Given the description of an element on the screen output the (x, y) to click on. 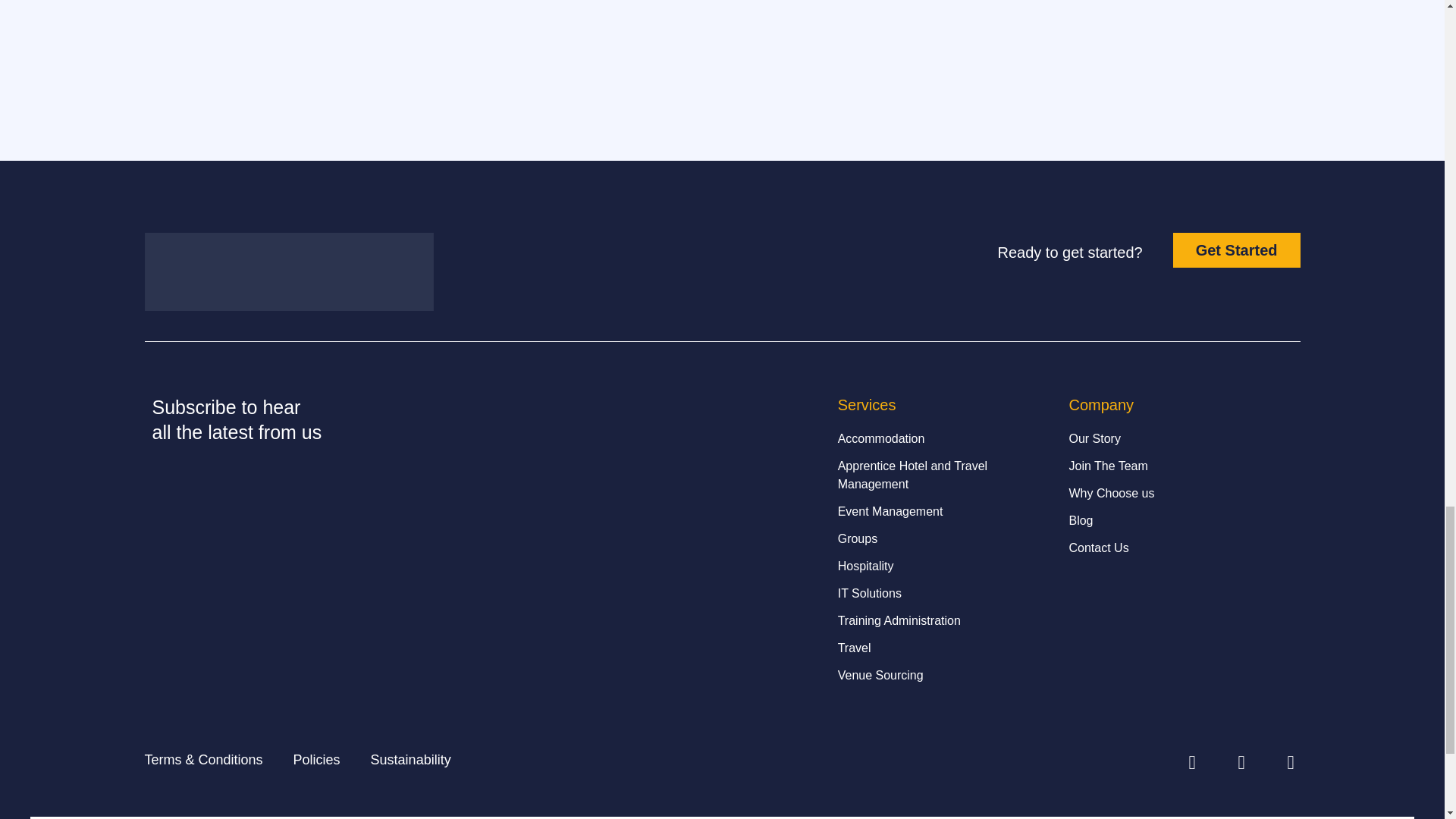
Contact Us (1176, 547)
Hospitality (946, 566)
Apprentice Hotel and Travel Management (946, 475)
Sustainability (411, 759)
Training Administration (946, 620)
IT Solutions (946, 593)
Join The Team (1176, 466)
Policies (317, 759)
Accommodation (946, 438)
Get Started (1236, 249)
